Given the description of an element on the screen output the (x, y) to click on. 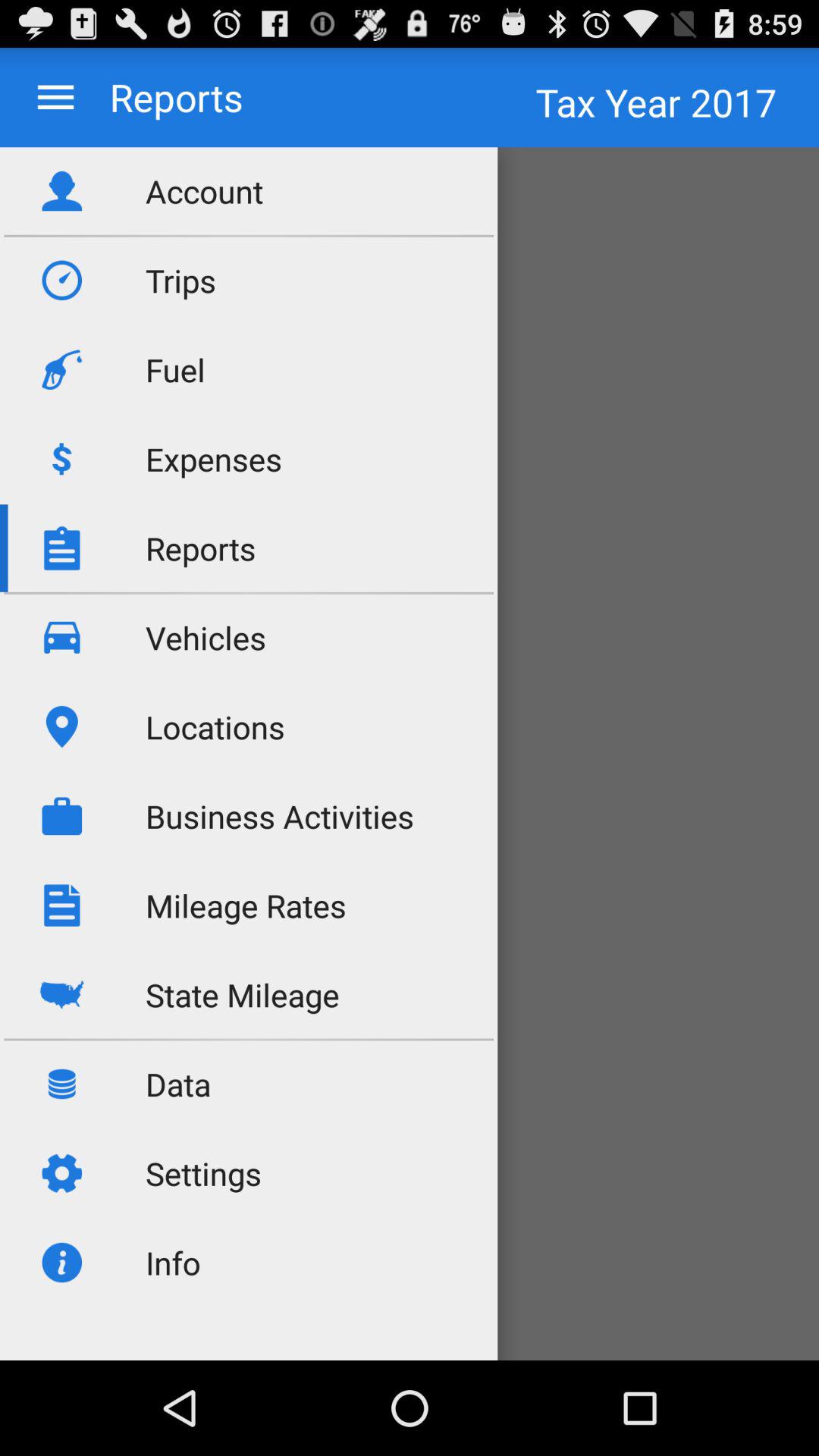
flip until the state mileage item (242, 994)
